Given the description of an element on the screen output the (x, y) to click on. 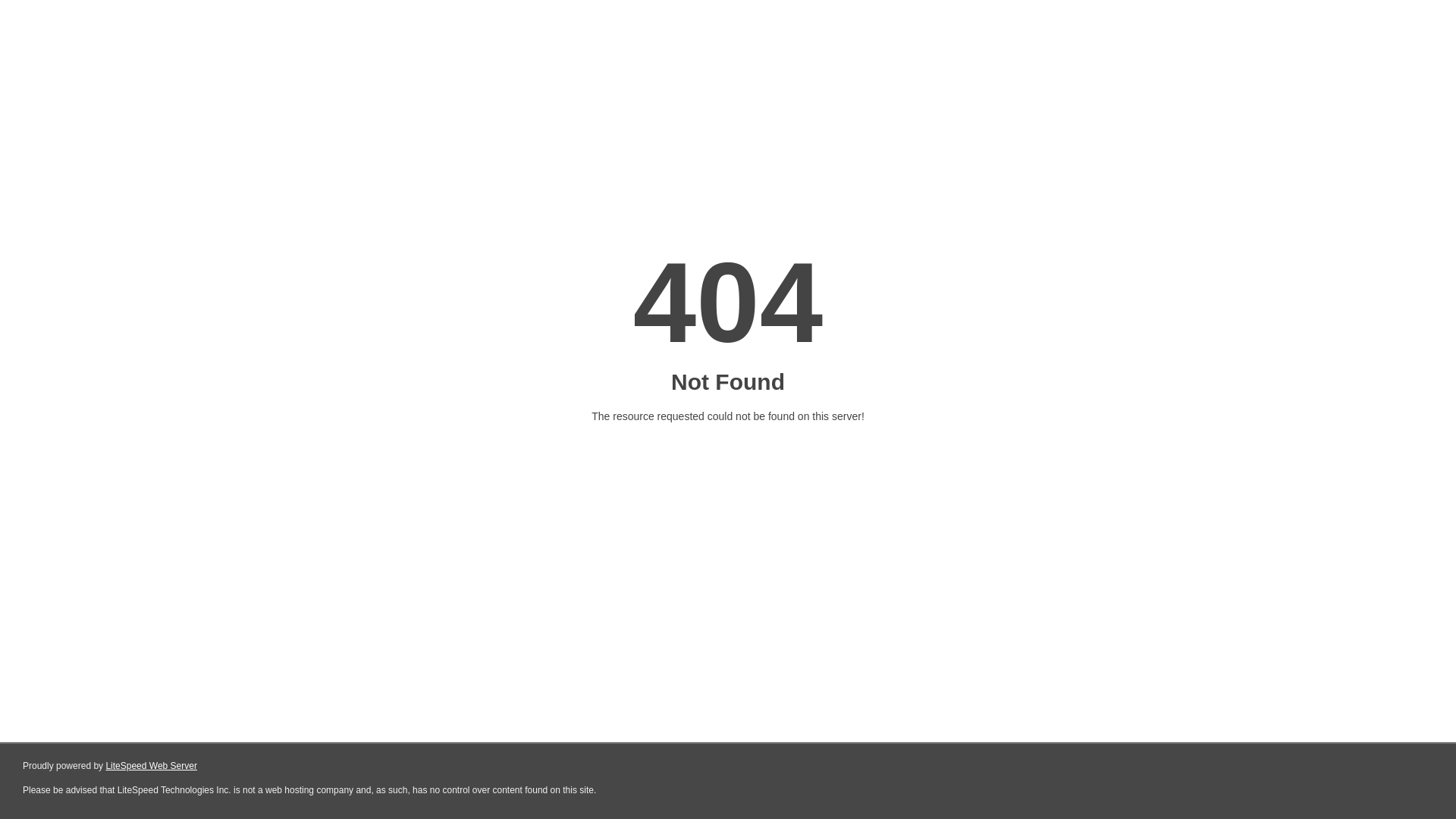
LiteSpeed Web Server Element type: text (151, 765)
